Given the description of an element on the screen output the (x, y) to click on. 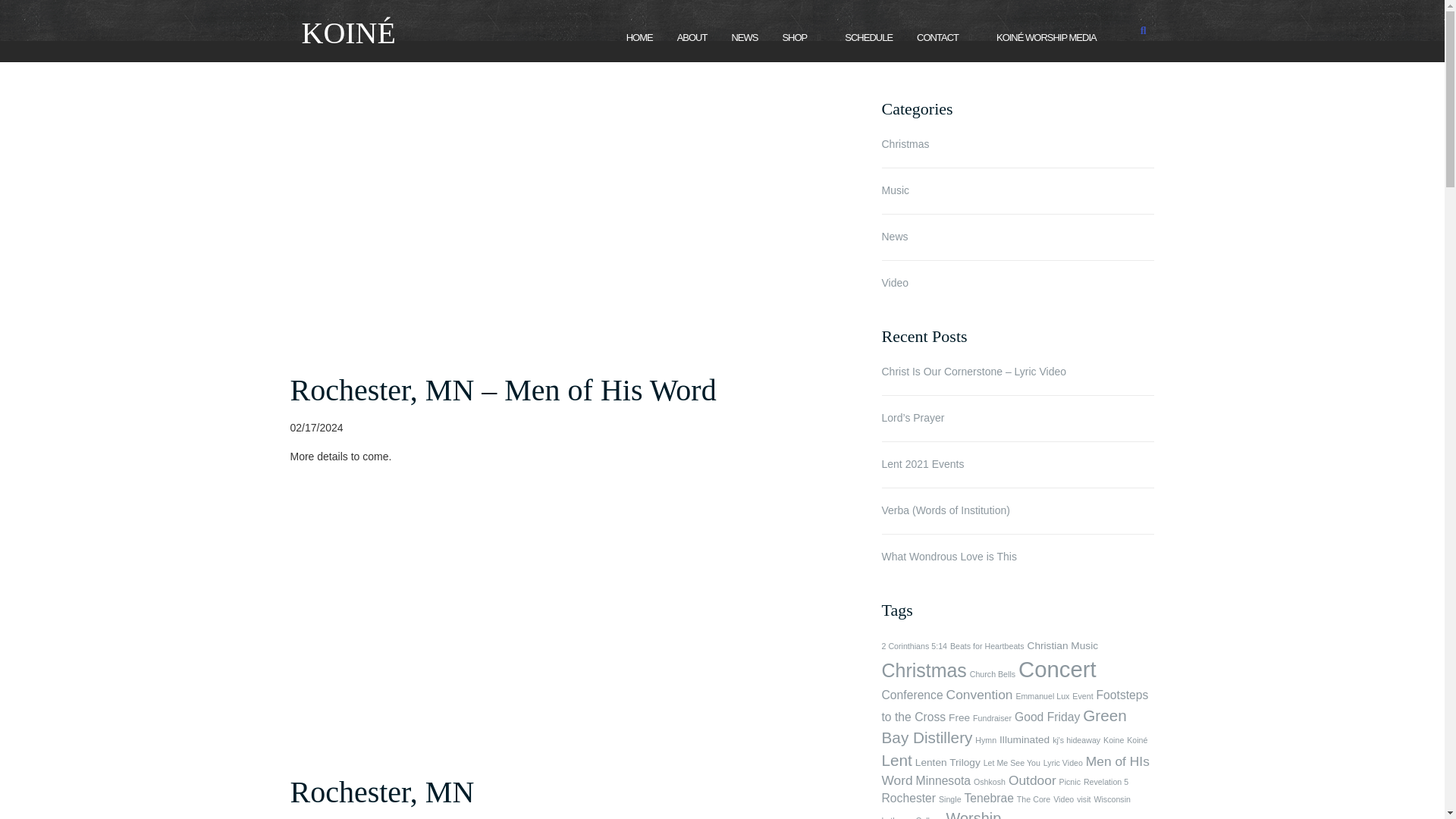
Video (894, 282)
Lent 2021 Events (1017, 464)
Schedule (868, 37)
Contact (937, 37)
Music (894, 190)
SCHEDULE (868, 37)
CONTACT (937, 37)
Rochester, MN (381, 791)
What Wondrous Love is This (1017, 557)
News (893, 236)
